Given the description of an element on the screen output the (x, y) to click on. 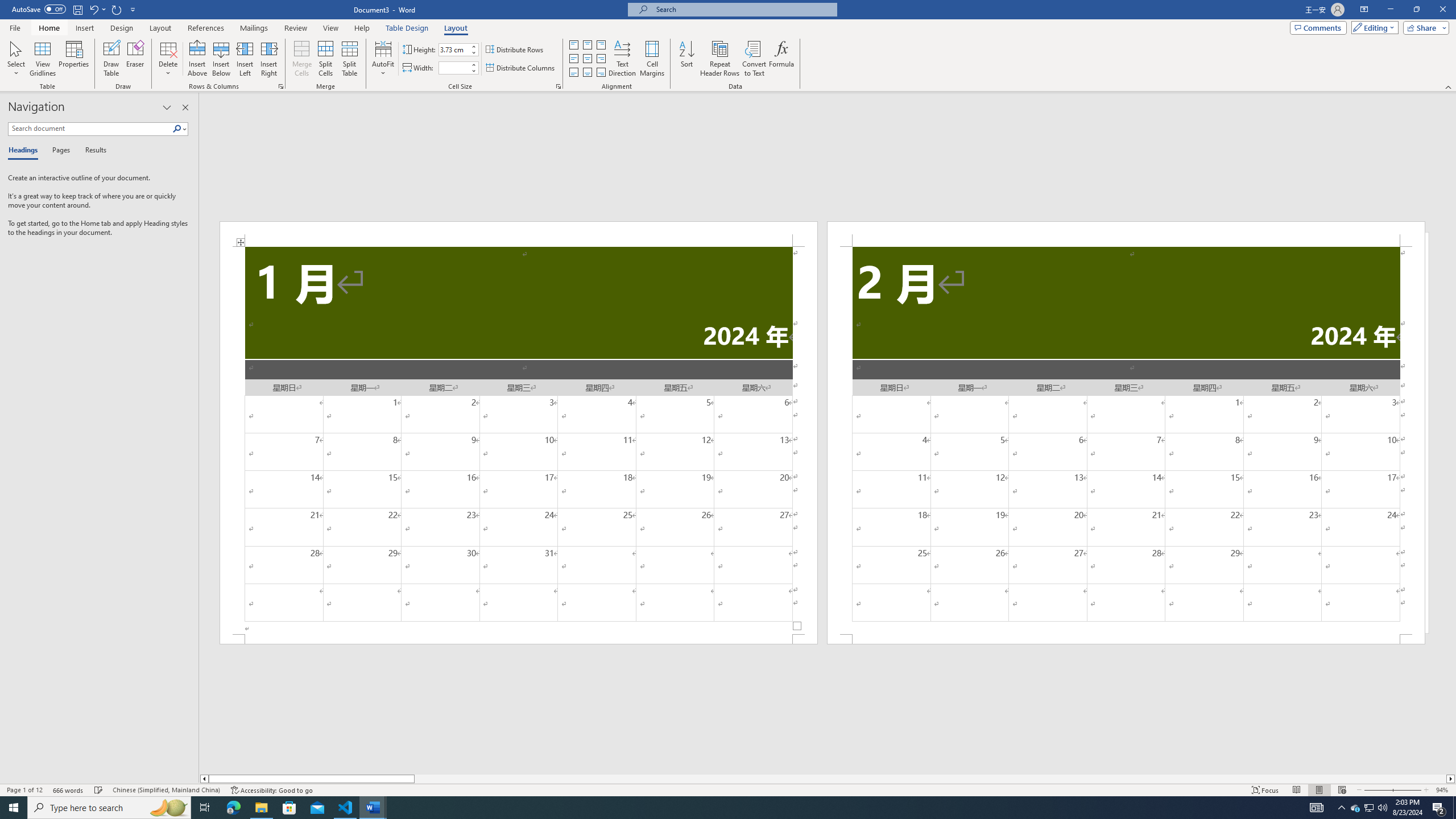
Header -Section 2- (1126, 233)
AutoFit (383, 58)
Page right (929, 778)
